Given the description of an element on the screen output the (x, y) to click on. 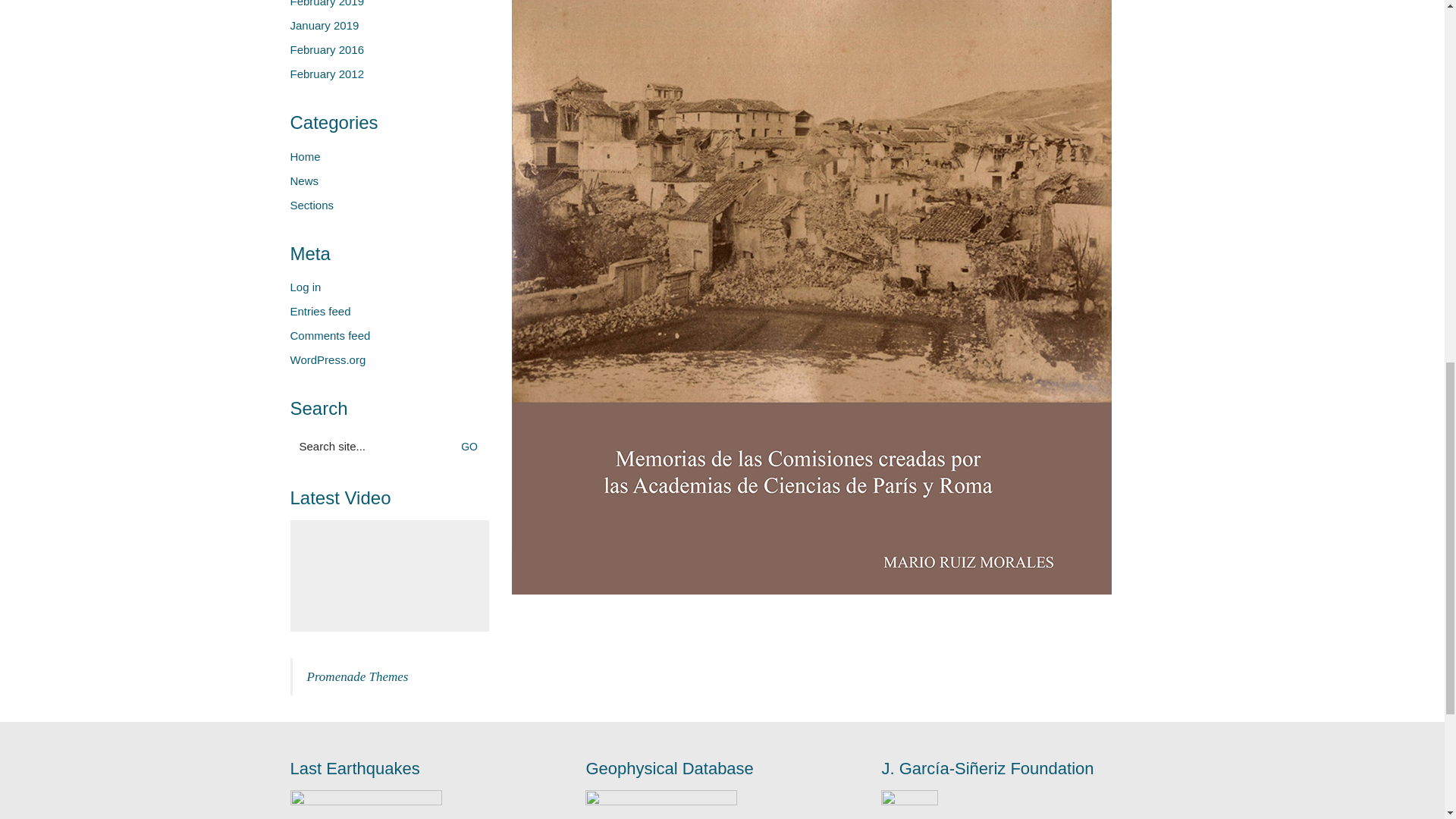
Go (473, 445)
Go (473, 445)
Search for: (389, 445)
